Given the description of an element on the screen output the (x, y) to click on. 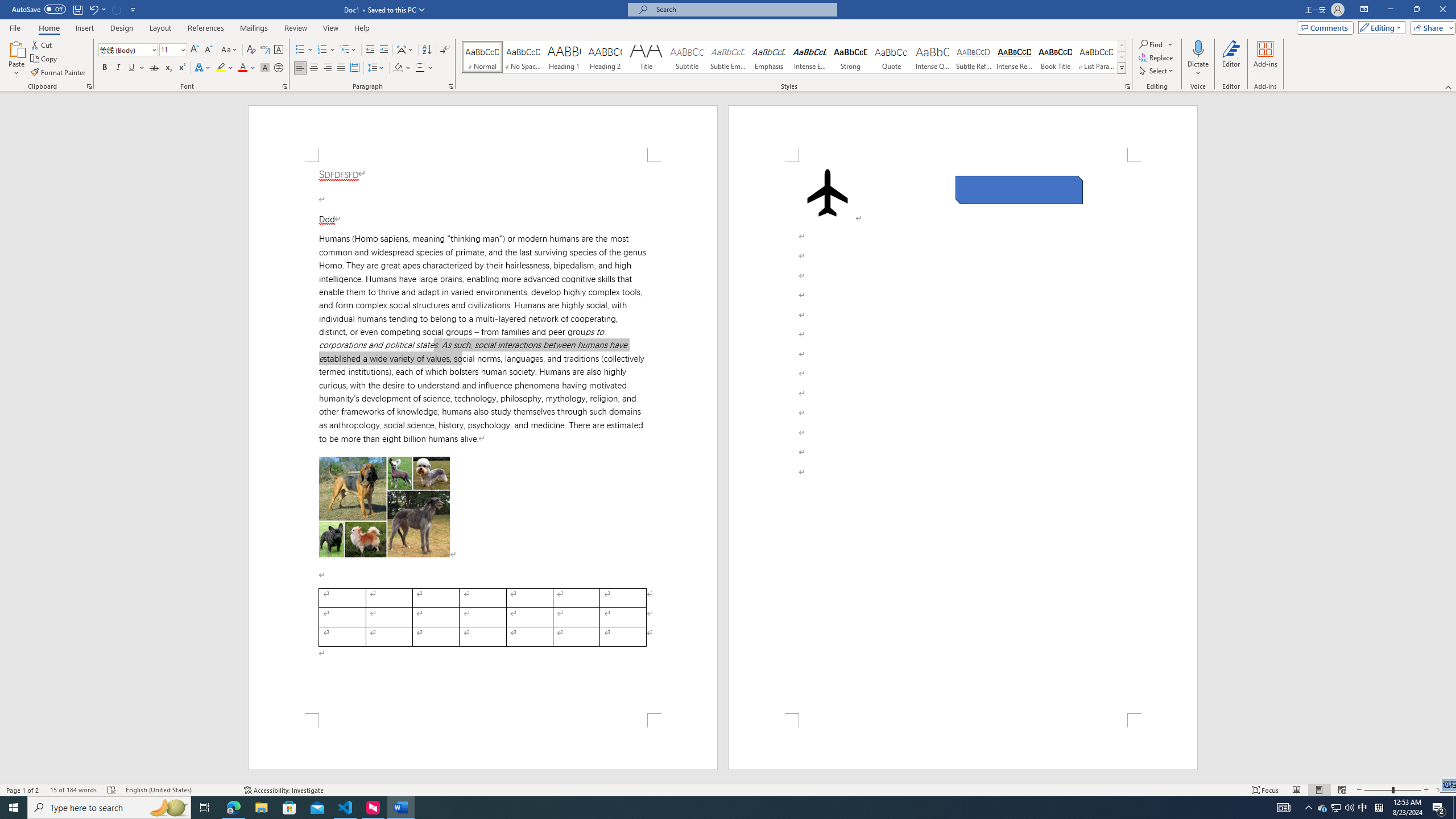
Save (77, 9)
Zoom In (1426, 790)
Font... (285, 85)
Insert (83, 28)
Review (295, 28)
Cut (42, 44)
Bullets (304, 49)
Decrease Indent (370, 49)
Grow Font (193, 49)
Sort... (426, 49)
Web Layout (1342, 790)
Paste (16, 58)
More Options (1197, 68)
